Given the description of an element on the screen output the (x, y) to click on. 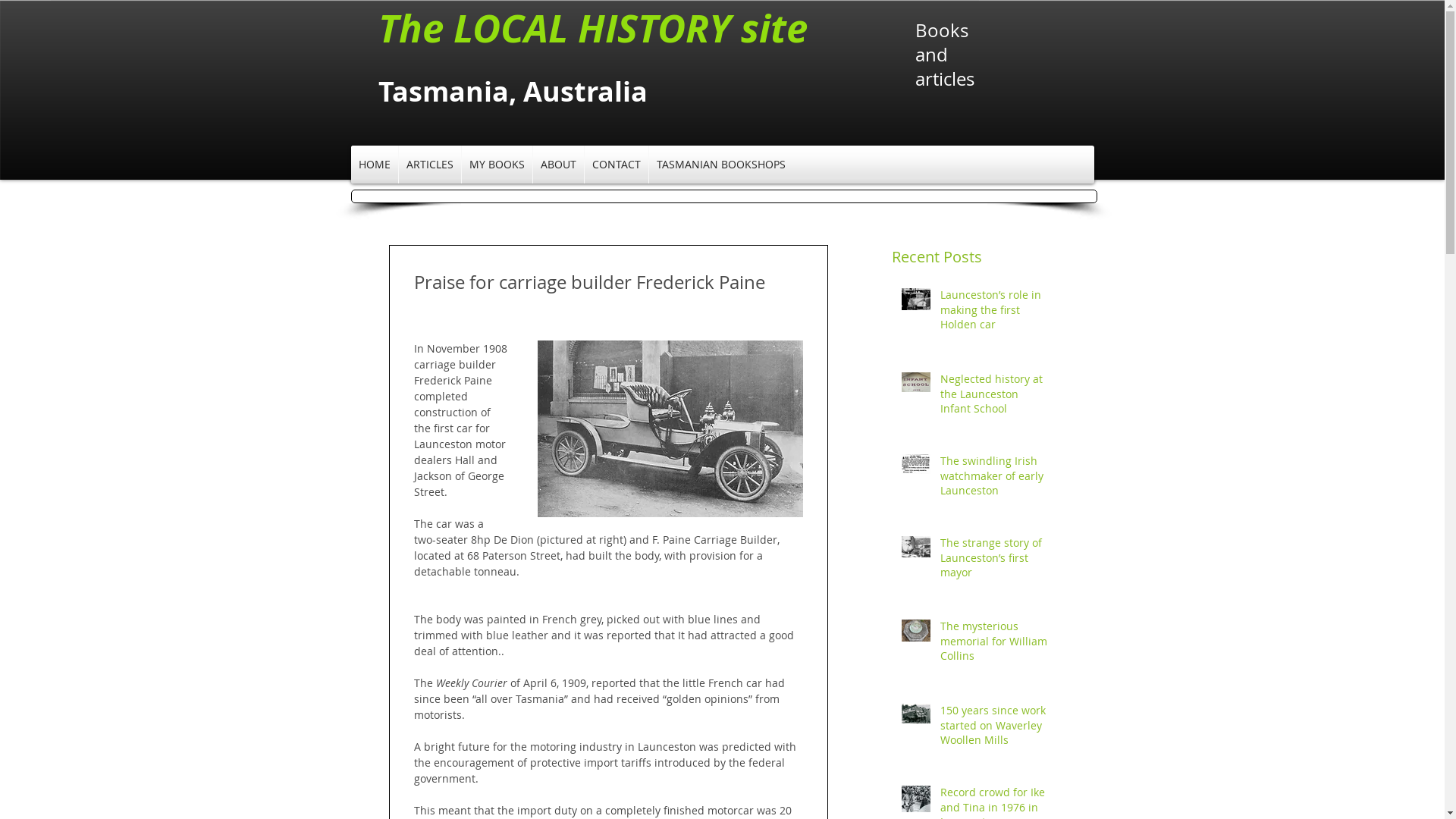
TASMANIAN BOOKSHOPS Element type: text (721, 164)
150 years since work started on Waverley Woollen Mills Element type: text (994, 727)
MY BOOKS Element type: text (496, 164)
The mysterious memorial for William Collins Element type: text (994, 643)
ABOUT Element type: text (557, 164)
HOME Element type: text (373, 164)
The swindling Irish watchmaker of early Launceston Element type: text (994, 478)
CONTACT Element type: text (615, 164)
ARTICLES Element type: text (429, 164)
Neglected history at the Launceston Infant School Element type: text (994, 396)
